Given the description of an element on the screen output the (x, y) to click on. 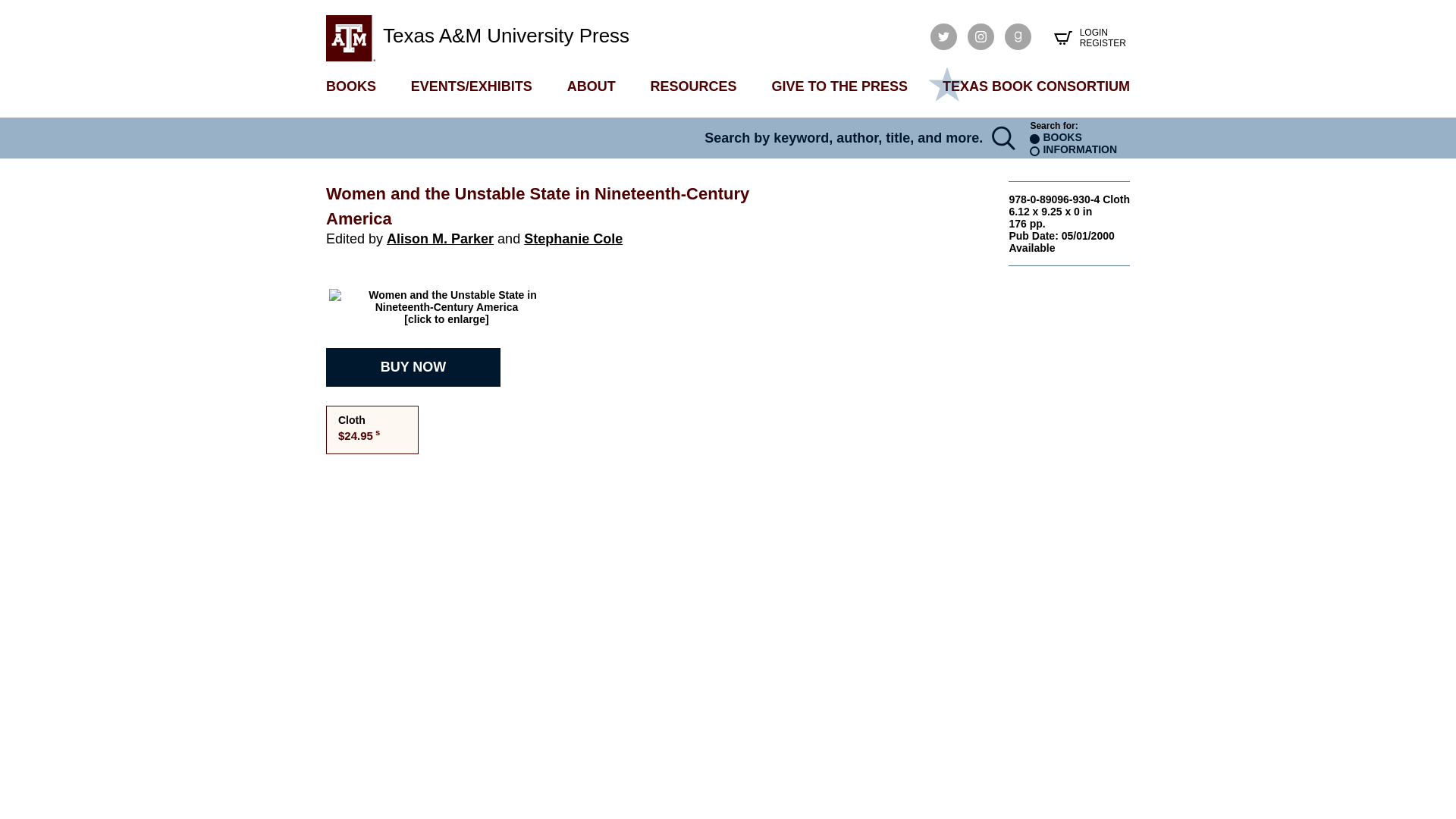
REGISTER (1102, 42)
Open Twitter Link in a new tab (943, 36)
TEXAS BOOK CONSORTIUM (1035, 86)
ABOUT (591, 86)
Open Instagram Link in a new tab (981, 36)
Open Good Reads Link in a new tab (1017, 36)
Search by keyword, author, title, and more. (655, 137)
LOGIN (1102, 32)
